Given the description of an element on the screen output the (x, y) to click on. 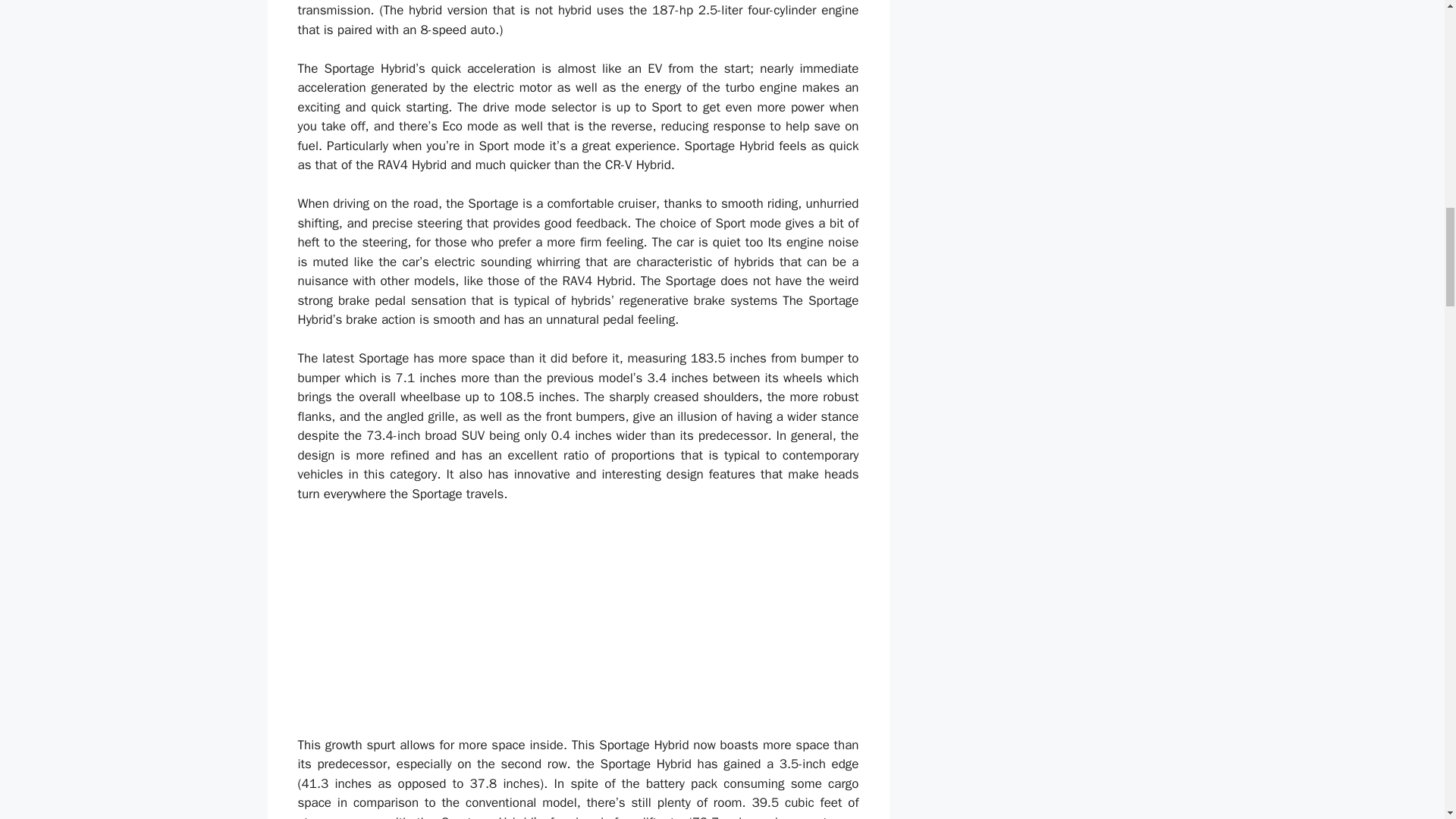
Advertisement (578, 629)
